Given the description of an element on the screen output the (x, y) to click on. 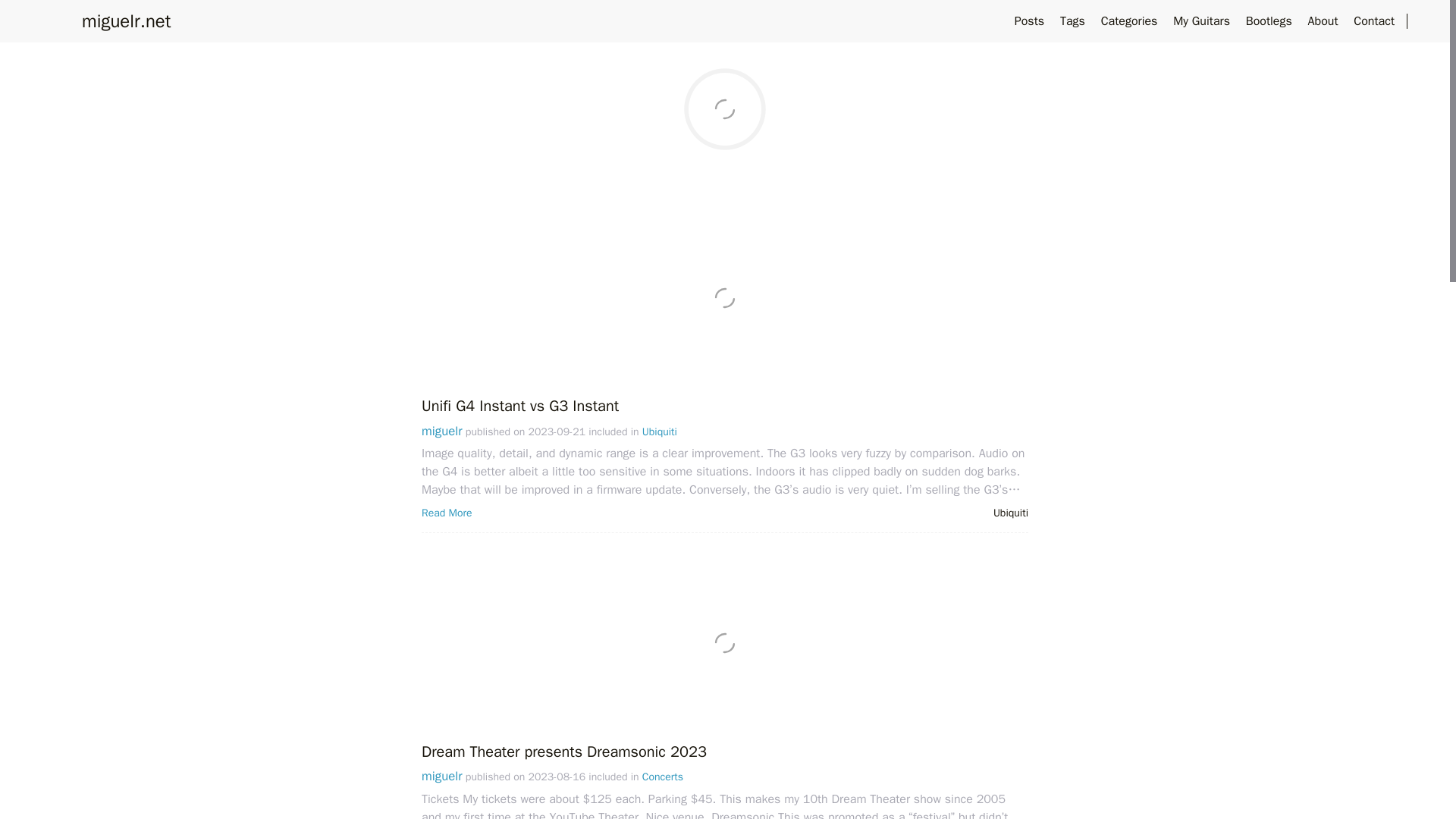
miguelr (442, 430)
Ubiquiti (1009, 512)
Dream Theater presents Dreamsonic 2023 (564, 751)
Unifi G4 Instant vs G3 Instant (520, 405)
miguelr.net (125, 20)
Posts (724, 141)
Concerts (662, 776)
Tags (1074, 20)
About (1324, 20)
Posts (1031, 20)
